Given the description of an element on the screen output the (x, y) to click on. 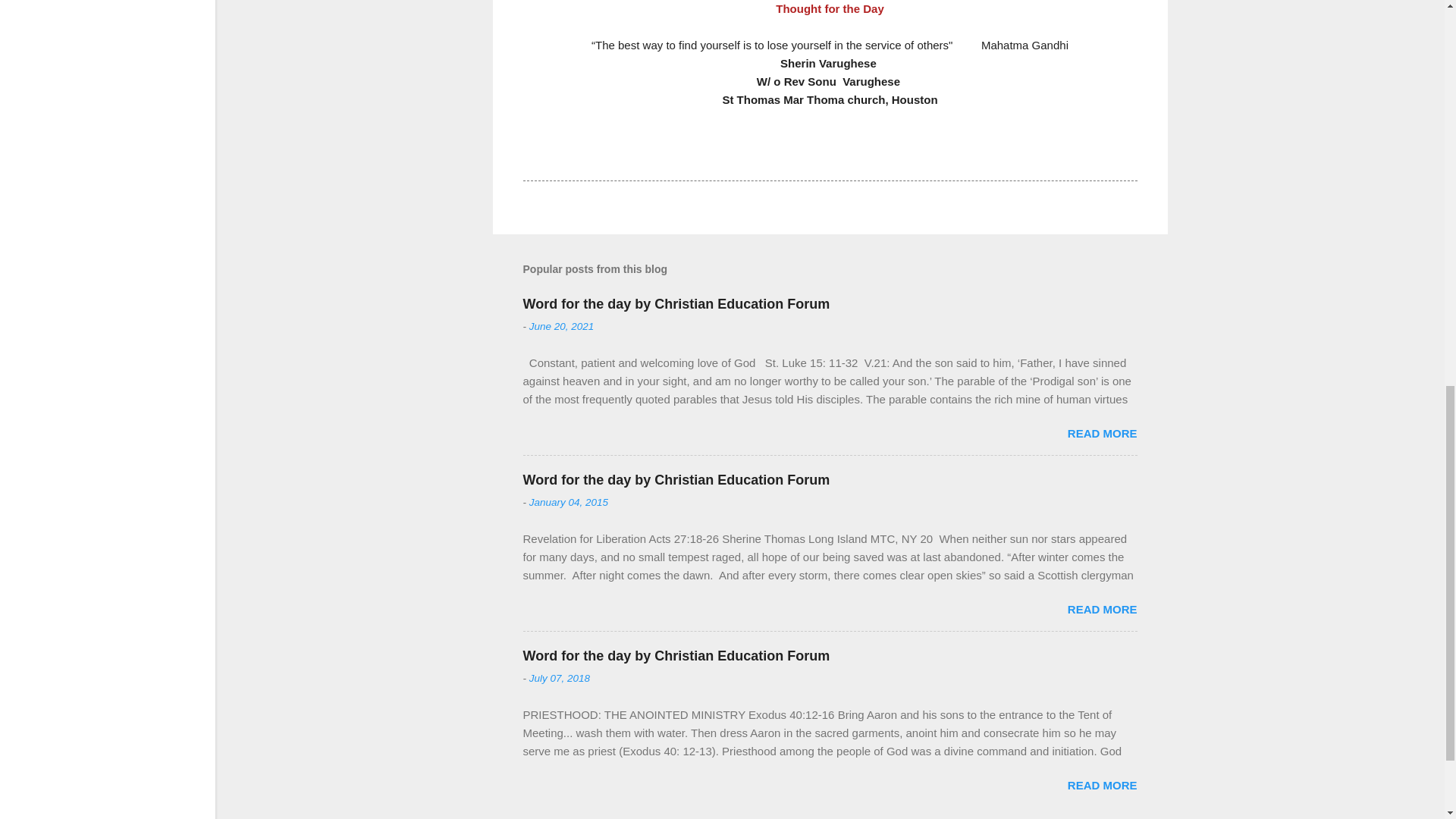
READ MORE (1102, 784)
READ MORE (1102, 608)
Word for the day by Christian Education Forum (675, 304)
Word for the day by Christian Education Forum (675, 655)
permanent link (561, 326)
Word for the day by Christian Education Forum (675, 479)
READ MORE (1102, 432)
June 20, 2021 (561, 326)
July 07, 2018 (559, 677)
January 04, 2015 (568, 501)
